Given the description of an element on the screen output the (x, y) to click on. 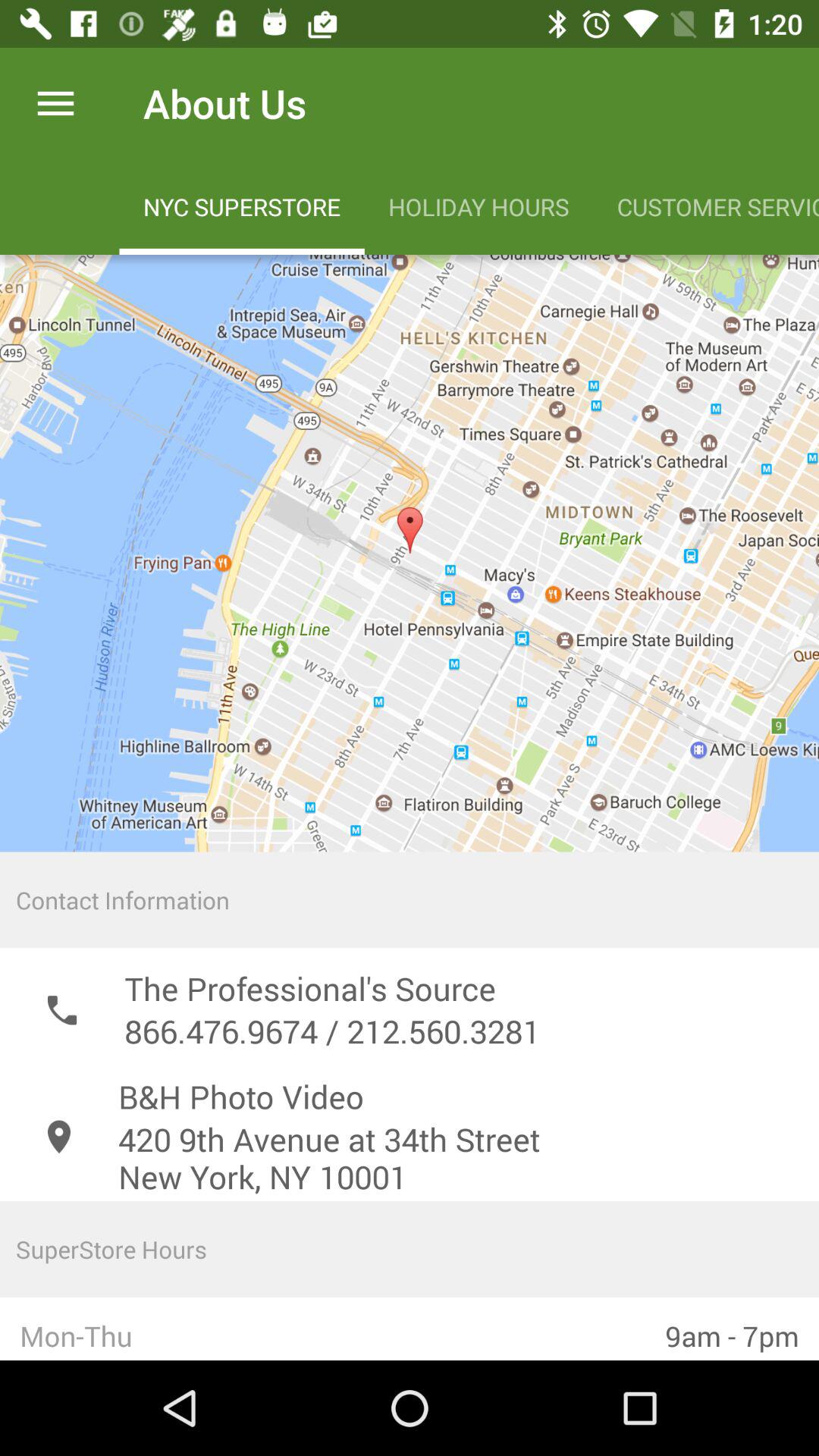
select the item next to the mon-thu (732, 1328)
